Given the description of an element on the screen output the (x, y) to click on. 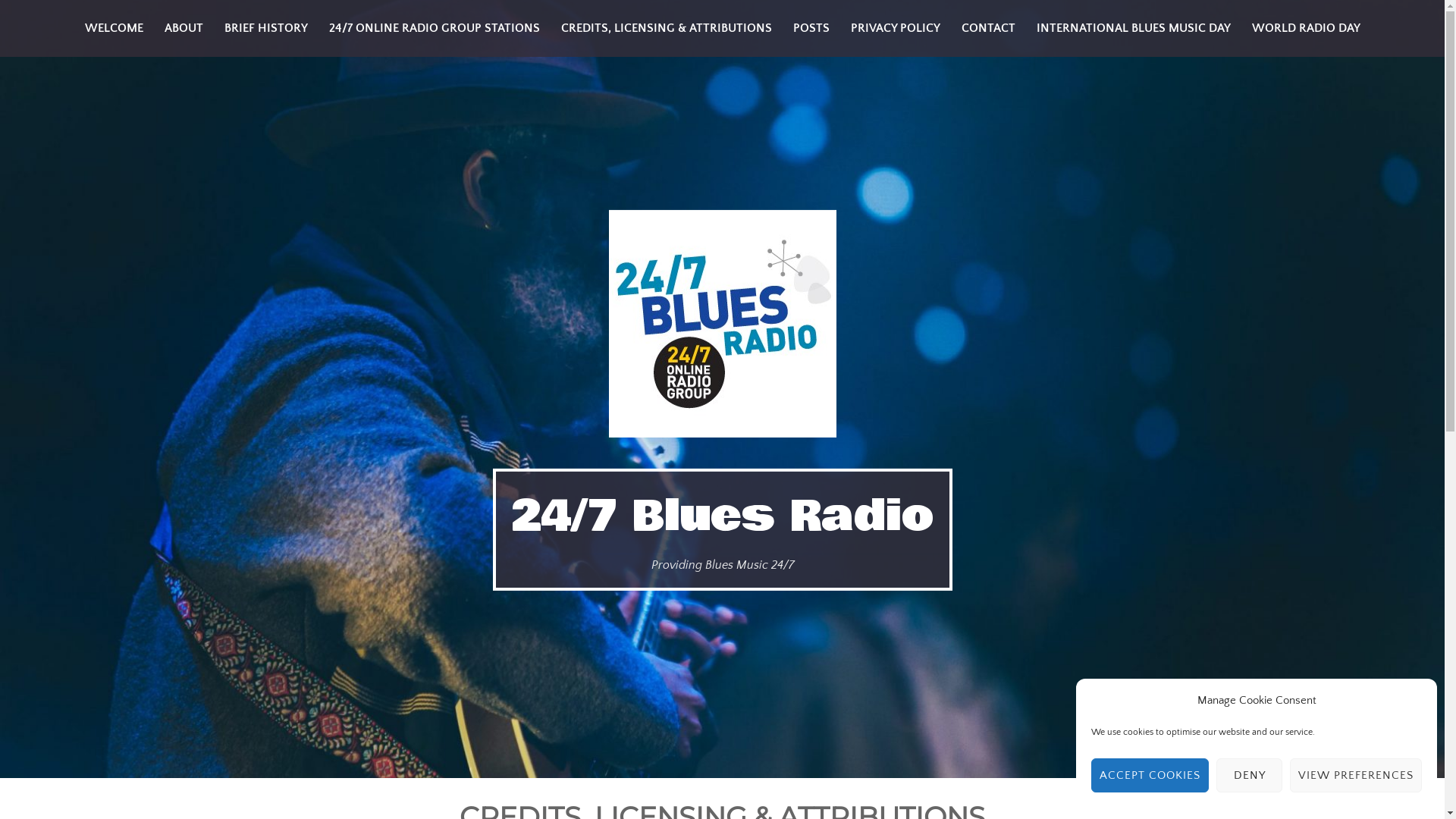
24/7 ONLINE RADIO GROUP STATIONS Element type: text (434, 28)
WELCOME Element type: text (113, 28)
POSTS Element type: text (811, 28)
PRIVACY POLICY Element type: text (895, 28)
VIEW PREFERENCES Element type: text (1355, 775)
Search Element type: text (44, 16)
CONTACT Element type: text (988, 28)
ACCEPT COOKIES Element type: text (1149, 775)
CREDITS, LICENSING & ATTRIBUTIONS Element type: text (666, 28)
DENY Element type: text (1249, 775)
BRIEF HISTORY Element type: text (265, 28)
WORLD RADIO DAY Element type: text (1305, 28)
INTERNATIONAL BLUES MUSIC DAY Element type: text (1132, 28)
24/7 Blues Radio Element type: text (722, 516)
ABOUT Element type: text (182, 28)
